Given the description of an element on the screen output the (x, y) to click on. 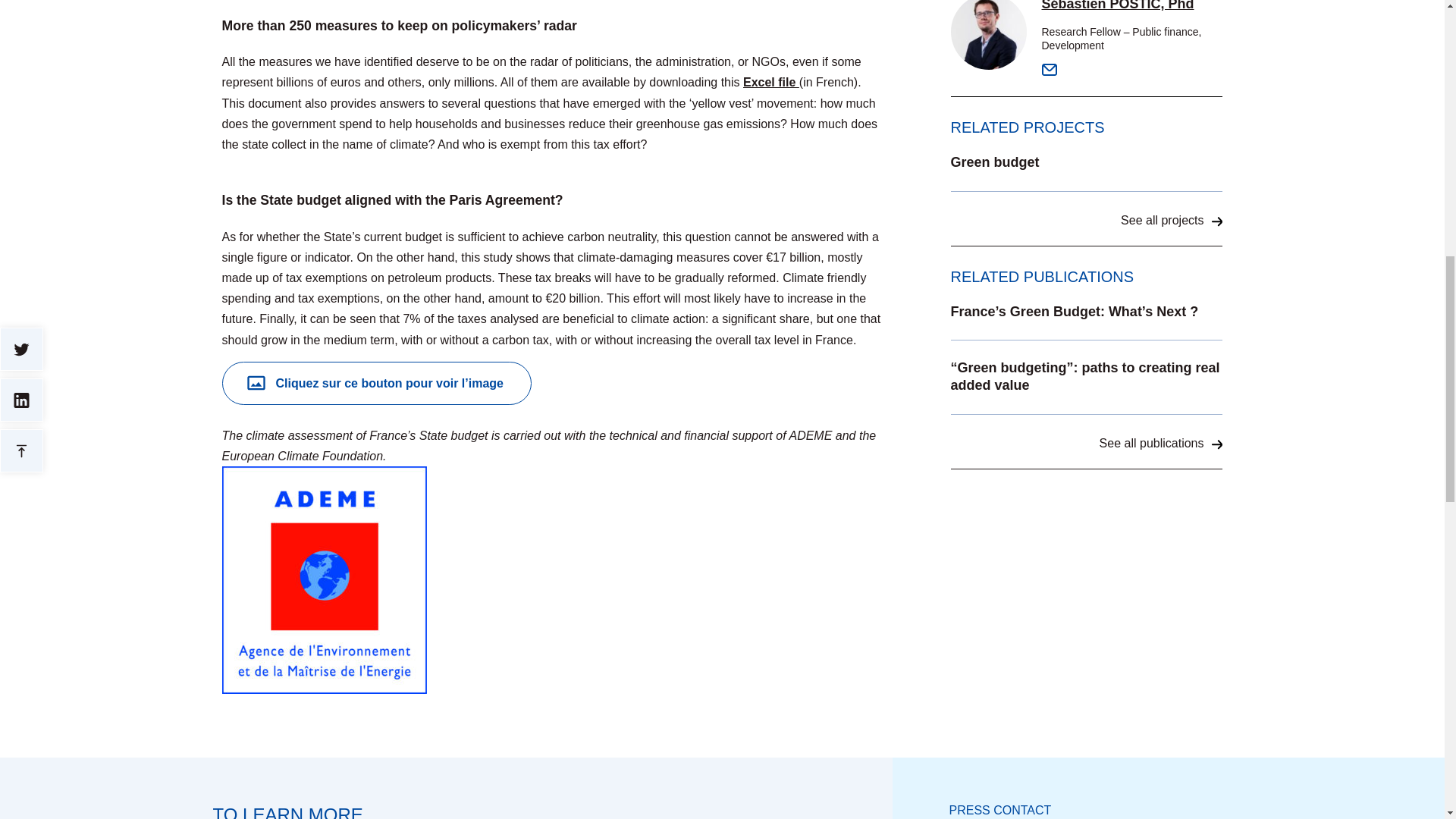
Excel file (770, 82)
